Given the description of an element on the screen output the (x, y) to click on. 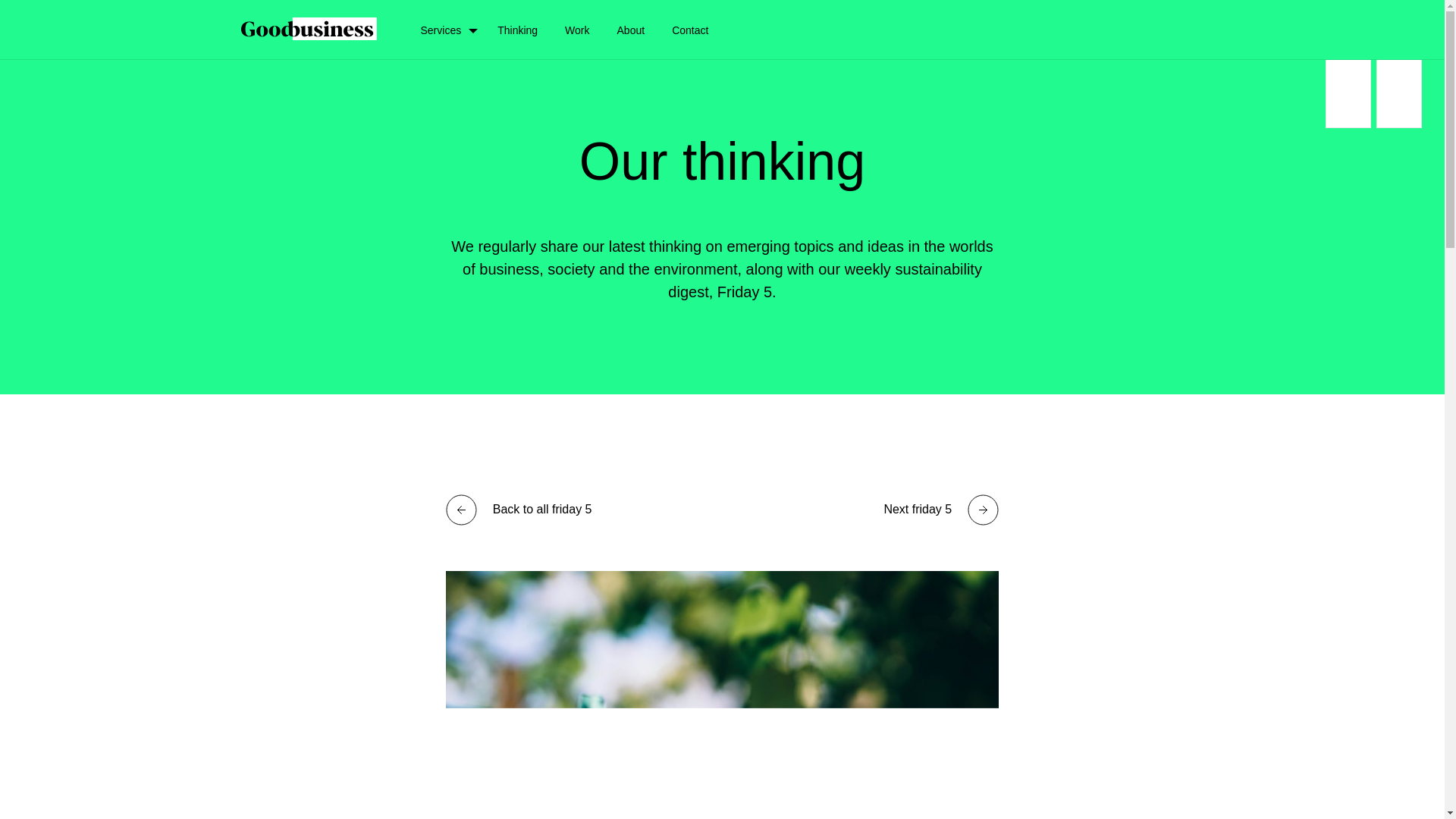
Next friday 5 (940, 508)
GoodBusiness GoodBusiness Logo (309, 27)
Contact (689, 29)
Thinking (516, 29)
Work (576, 29)
GoodBusiness GoodBusiness Logo (309, 29)
Back to all friday 5 (518, 508)
About (631, 29)
Services (440, 29)
